Given the description of an element on the screen output the (x, y) to click on. 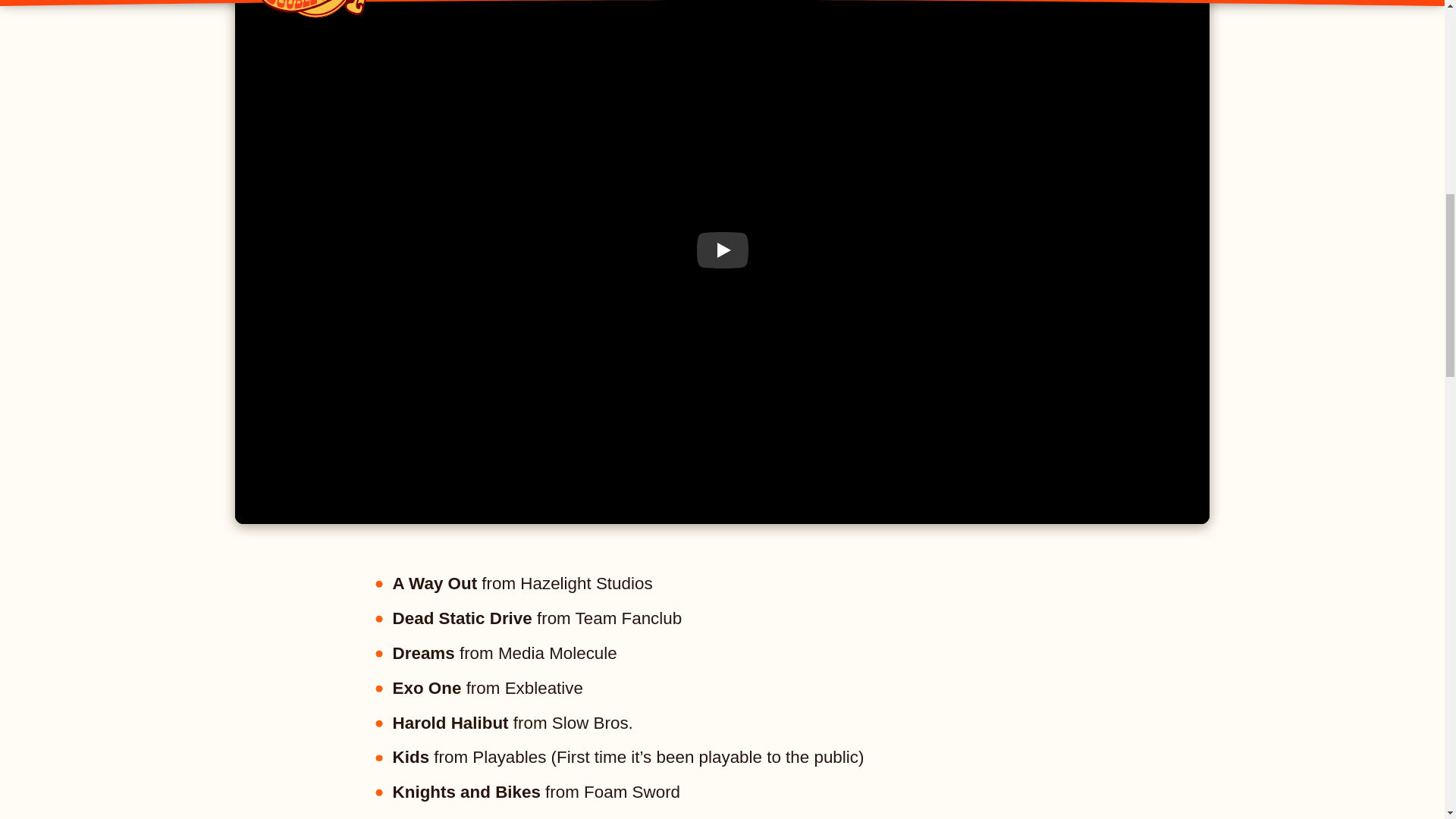
Play: Embedded media (721, 249)
